Given the description of an element on the screen output the (x, y) to click on. 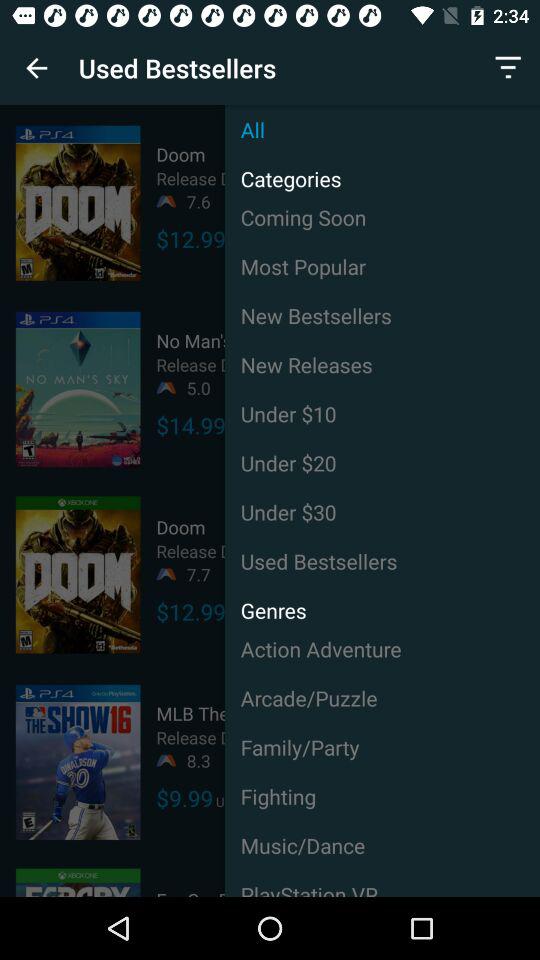
swipe until the categories item (282, 173)
